Given the description of an element on the screen output the (x, y) to click on. 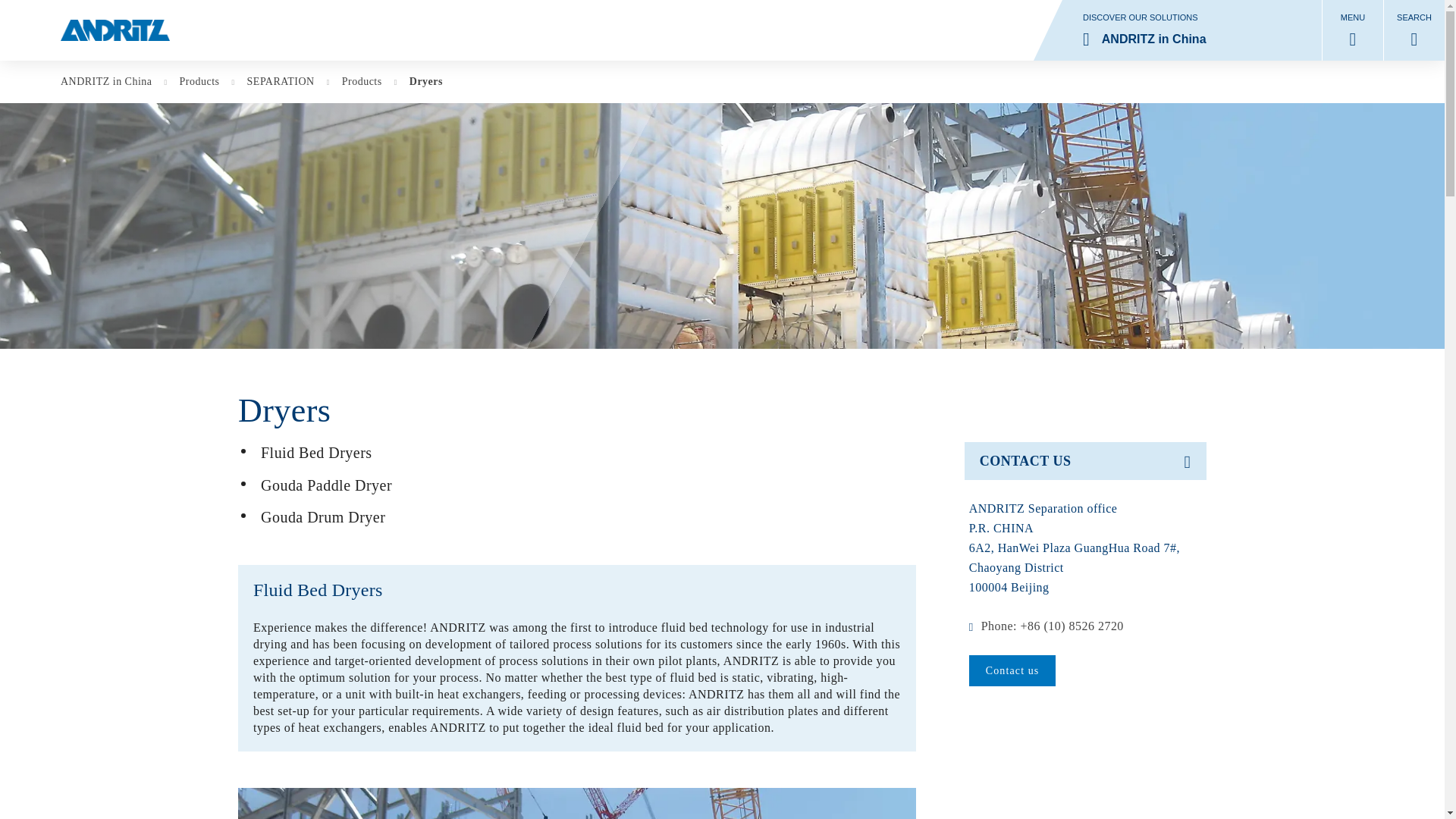
SEPARATION (288, 81)
MENU (1352, 30)
Products (206, 81)
Contact us (1013, 670)
SEPARATION (288, 81)
Products (369, 81)
ANDRITZ in China (114, 81)
Products (206, 81)
ANDRITZ in China (114, 81)
se-cn-dryers-fluid-bed-dryers-for-coal (576, 803)
Dryers (425, 81)
Dryers (1177, 30)
Products (425, 81)
